Given the description of an element on the screen output the (x, y) to click on. 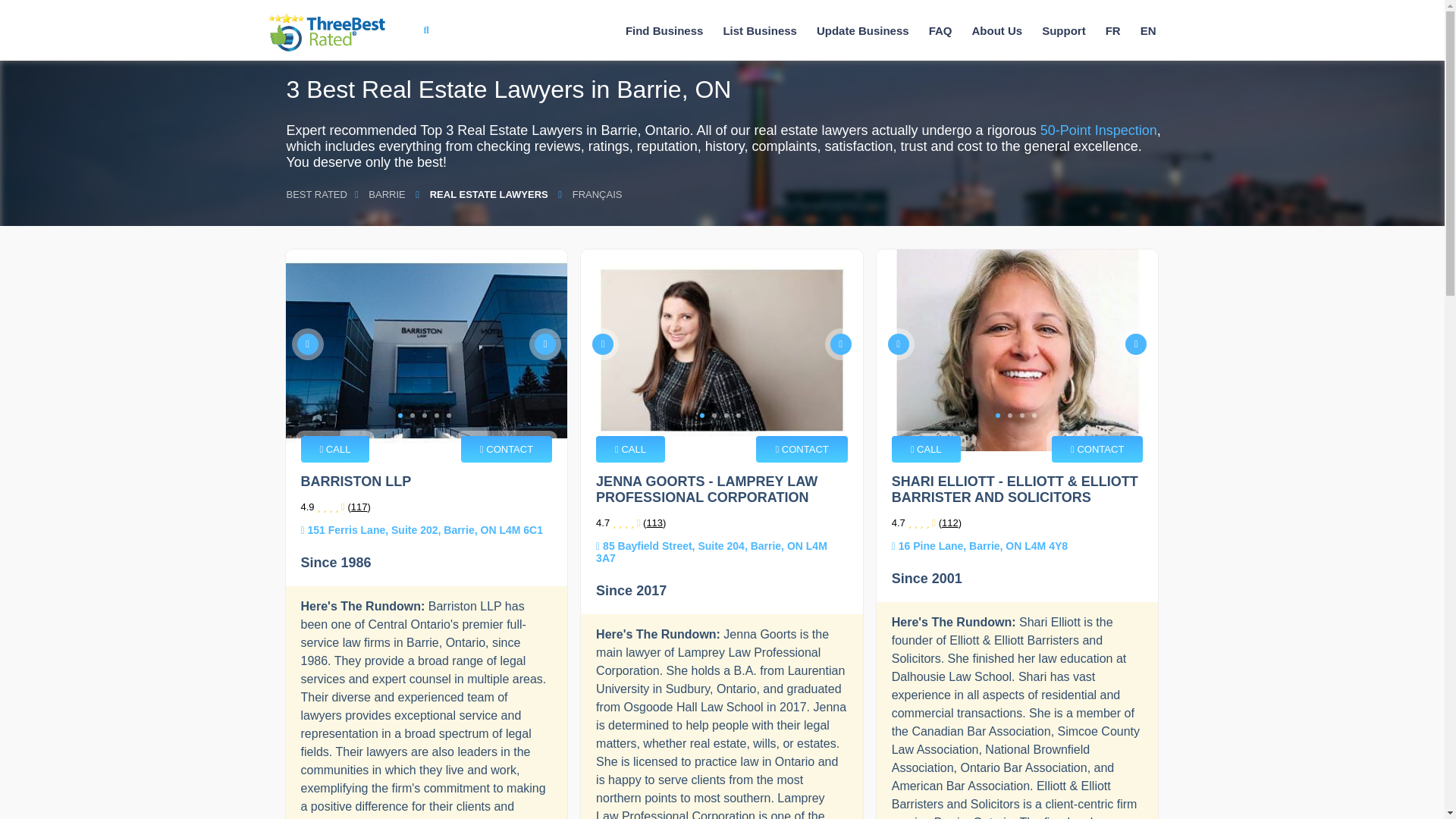
BEST RATED (317, 194)
Support (1063, 30)
About Us (996, 30)
List Business (759, 30)
Update your business for Free! (863, 30)
CALL (334, 448)
BARRISTON LLP (426, 350)
FR (1112, 30)
Update Business (863, 30)
EN (1147, 30)
ENGLISH (1147, 30)
Jenna Goorts - LAMPREY LAW PROFESSIONAL CORPORATION (721, 350)
List your business for Free! (759, 30)
FAQ (940, 30)
